Given the description of an element on the screen output the (x, y) to click on. 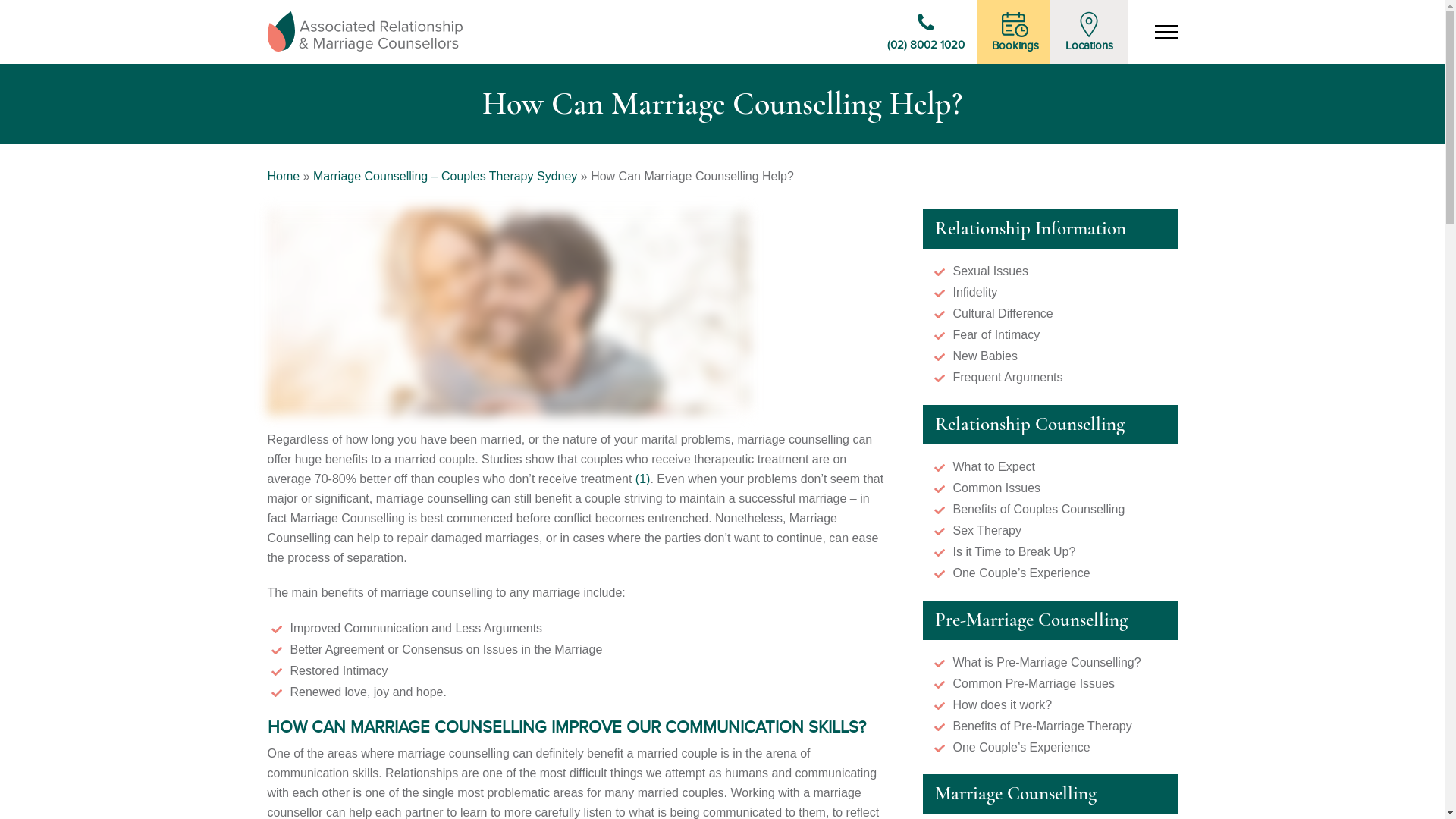
Common Issues Element type: text (996, 487)
Frequent Arguments Element type: text (1007, 376)
Bookings Element type: text (1015, 31)
Is it Time to Break Up? Element type: text (1013, 551)
Fear of Intimacy Element type: text (995, 334)
Benefits of Pre-Marriage Therapy Element type: text (1041, 725)
How does it work? Element type: text (1001, 704)
What is Pre-Marriage Counselling? Element type: text (1046, 661)
Sex Therapy Element type: text (986, 530)
Sexual Issues Element type: text (990, 270)
Locations Element type: text (1088, 31)
Couple Counselling Element type: text (363, 31)
Benefits of Couples Counselling Element type: text (1038, 508)
(1) Element type: text (642, 478)
What to Expect Element type: text (993, 466)
Couple piggyback Element type: hover (507, 311)
Home Element type: text (282, 175)
New Babies Element type: text (984, 355)
Infidelity Element type: text (974, 291)
Common Pre-Marriage Issues Element type: text (1032, 683)
(02) 8002 1020 Element type: text (925, 31)
Cultural Difference Element type: text (1002, 313)
